Given the description of an element on the screen output the (x, y) to click on. 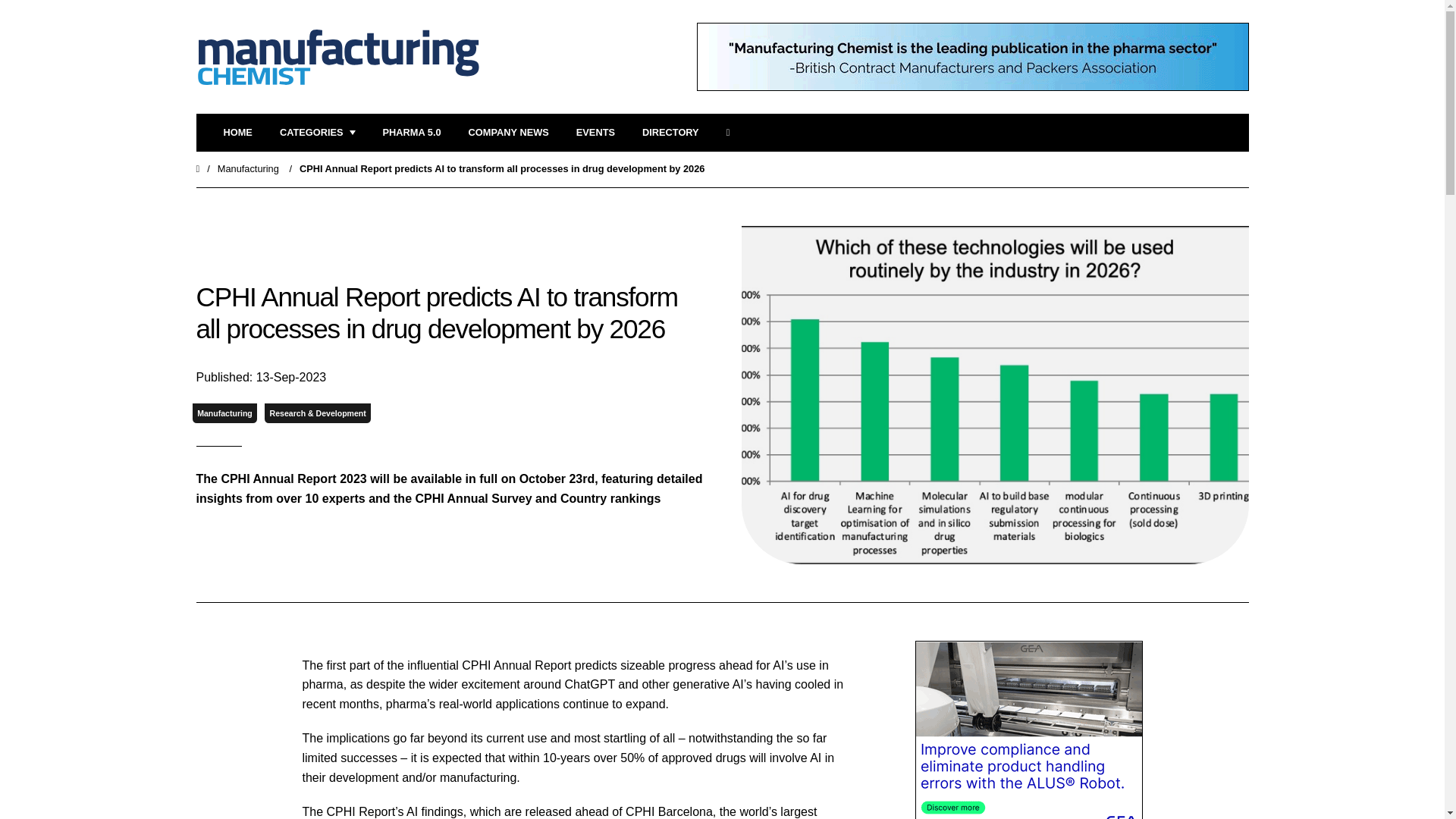
Manufacturing (247, 168)
Pharma 5.0 (411, 133)
COMPANY NEWS (508, 133)
CATEGORIES (317, 133)
DIRECTORY (670, 133)
EVENTS (595, 133)
SEARCH (732, 133)
Directory (670, 133)
Manufacturing (224, 413)
HOME (236, 133)
PHARMA 5.0 (411, 133)
